Given the description of an element on the screen output the (x, y) to click on. 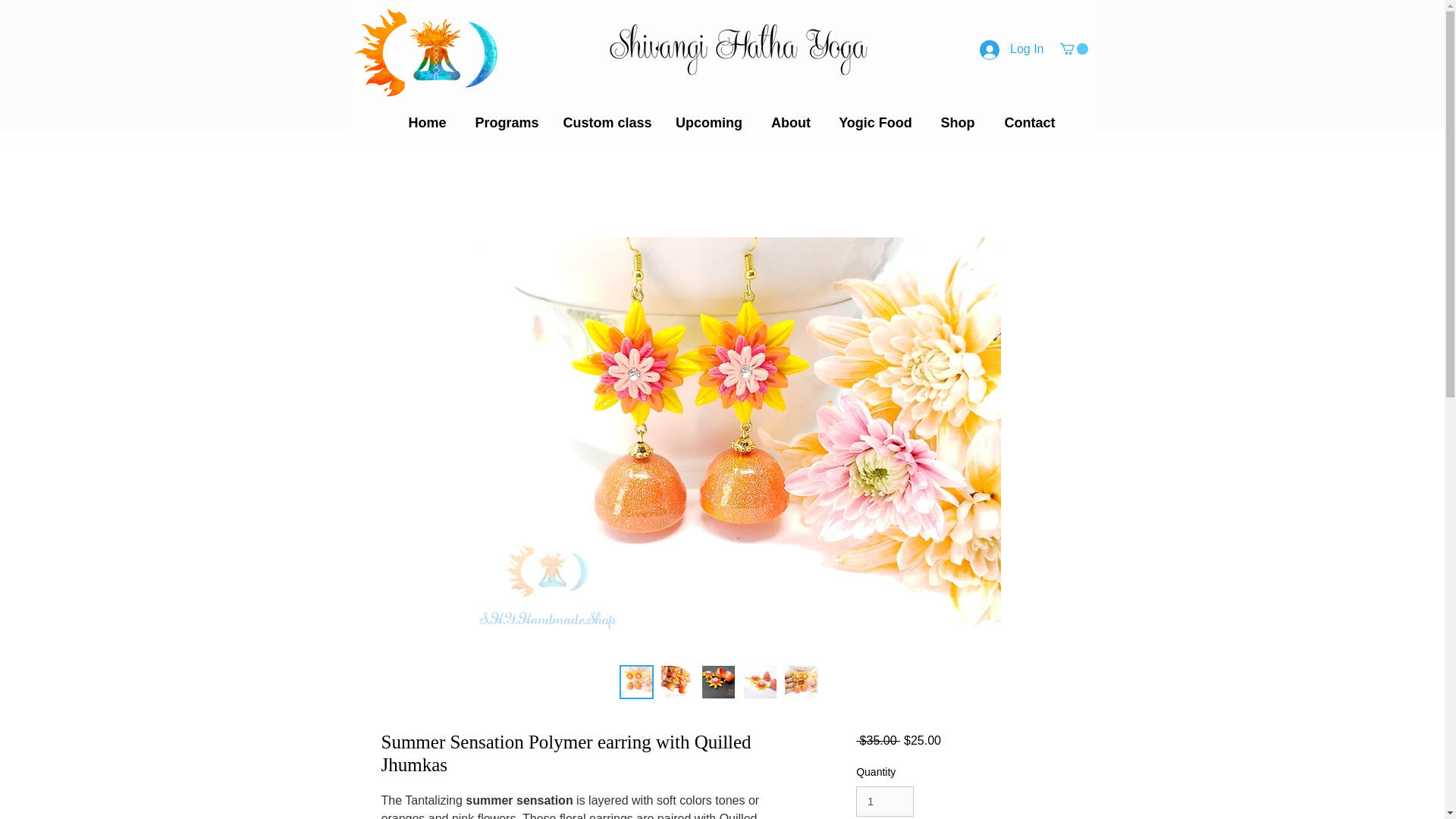
Programs (507, 122)
Shop (957, 122)
About (791, 122)
Home (428, 122)
Upcoming (708, 122)
Log In (1011, 49)
Contact (1030, 122)
1 (885, 801)
Custom class (606, 122)
Yogic Food (874, 122)
